Given the description of an element on the screen output the (x, y) to click on. 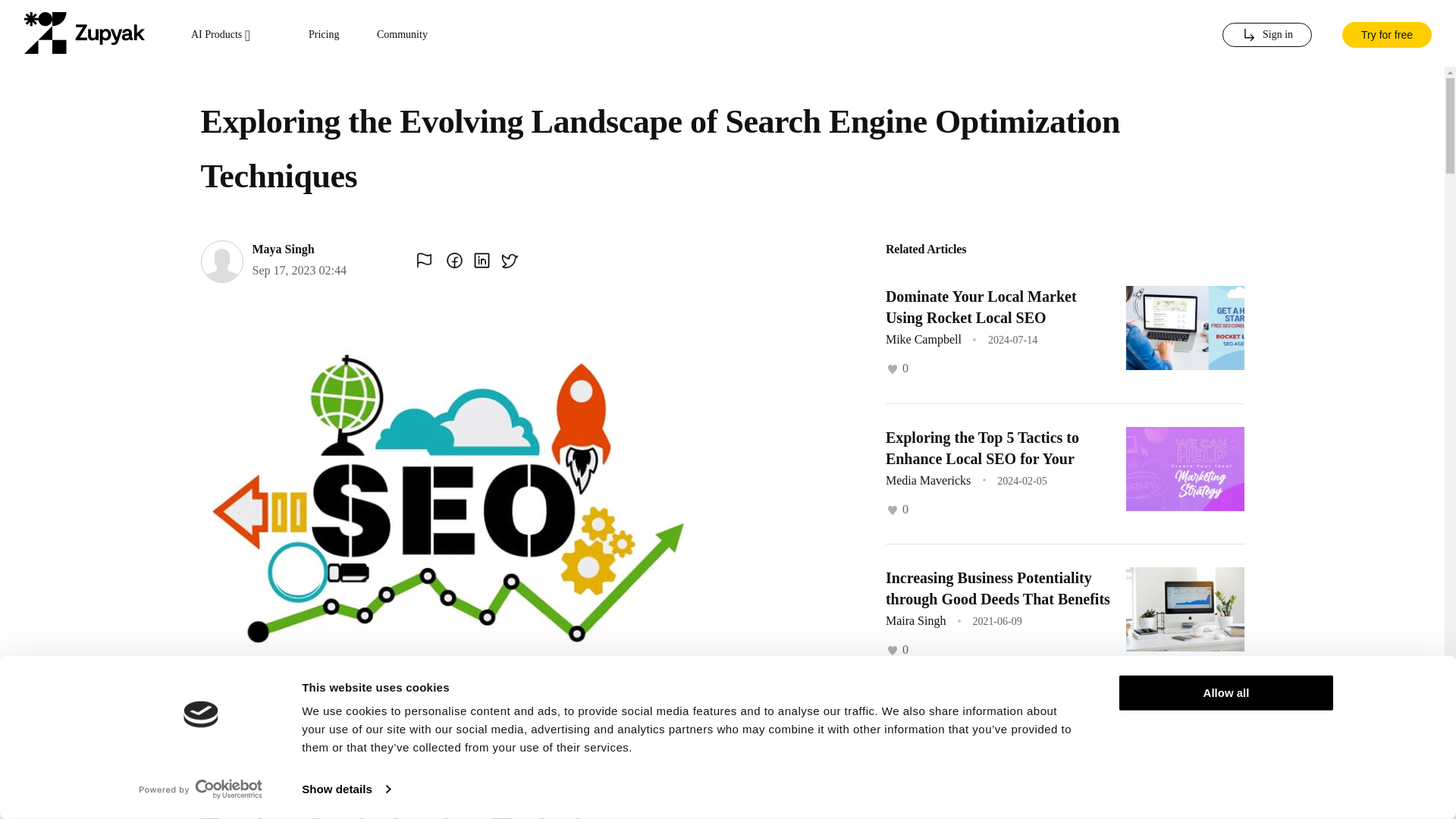
Dominate Your Local Market Using Rocket Local SEO Techniques (981, 317)
Show details (345, 789)
The Future of Digital Marketing: A Note from Gill Telecom  (999, 728)
